Given the description of an element on the screen output the (x, y) to click on. 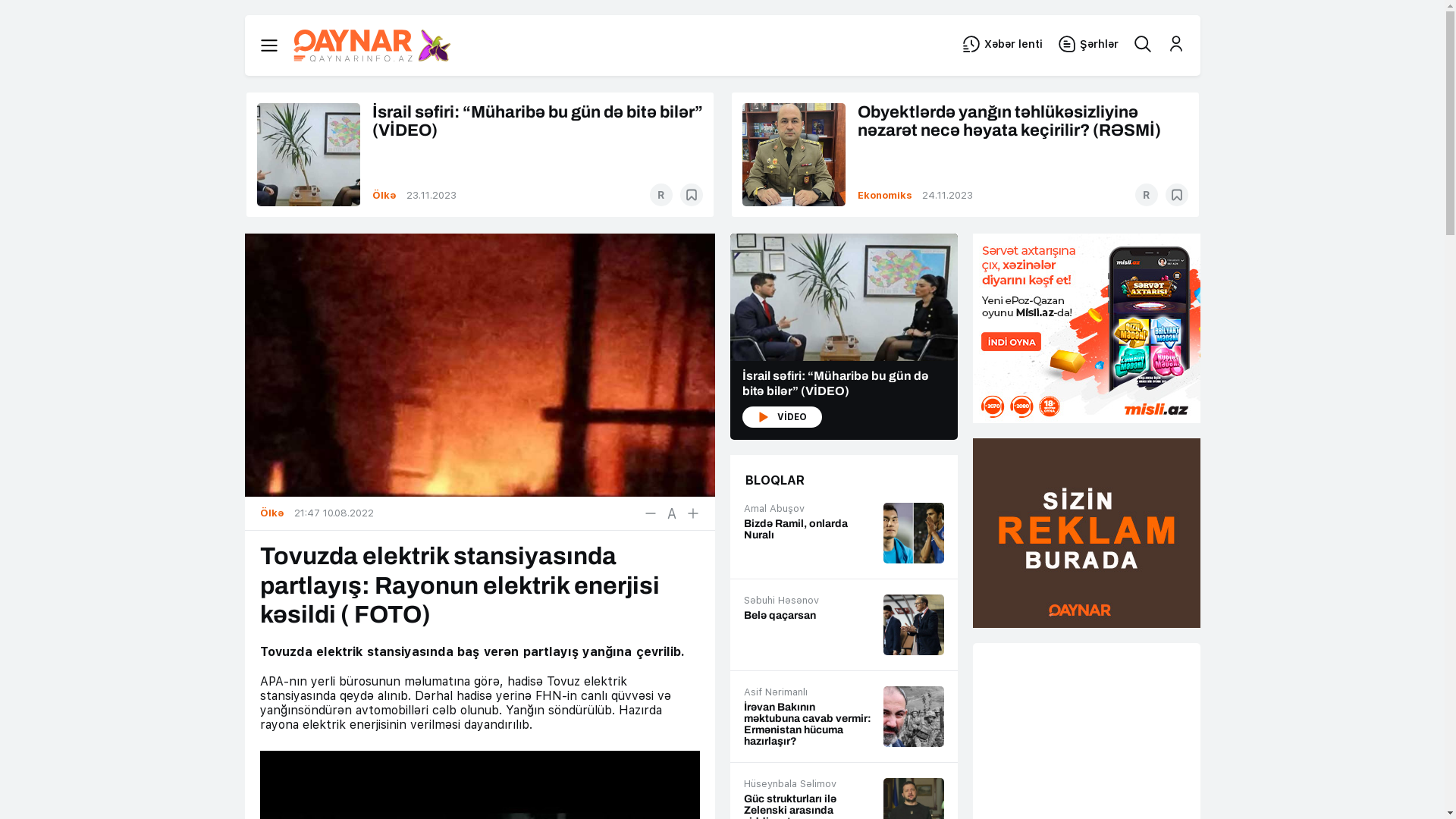
Ekonomiks Element type: text (884, 194)
